Given the description of an element on the screen output the (x, y) to click on. 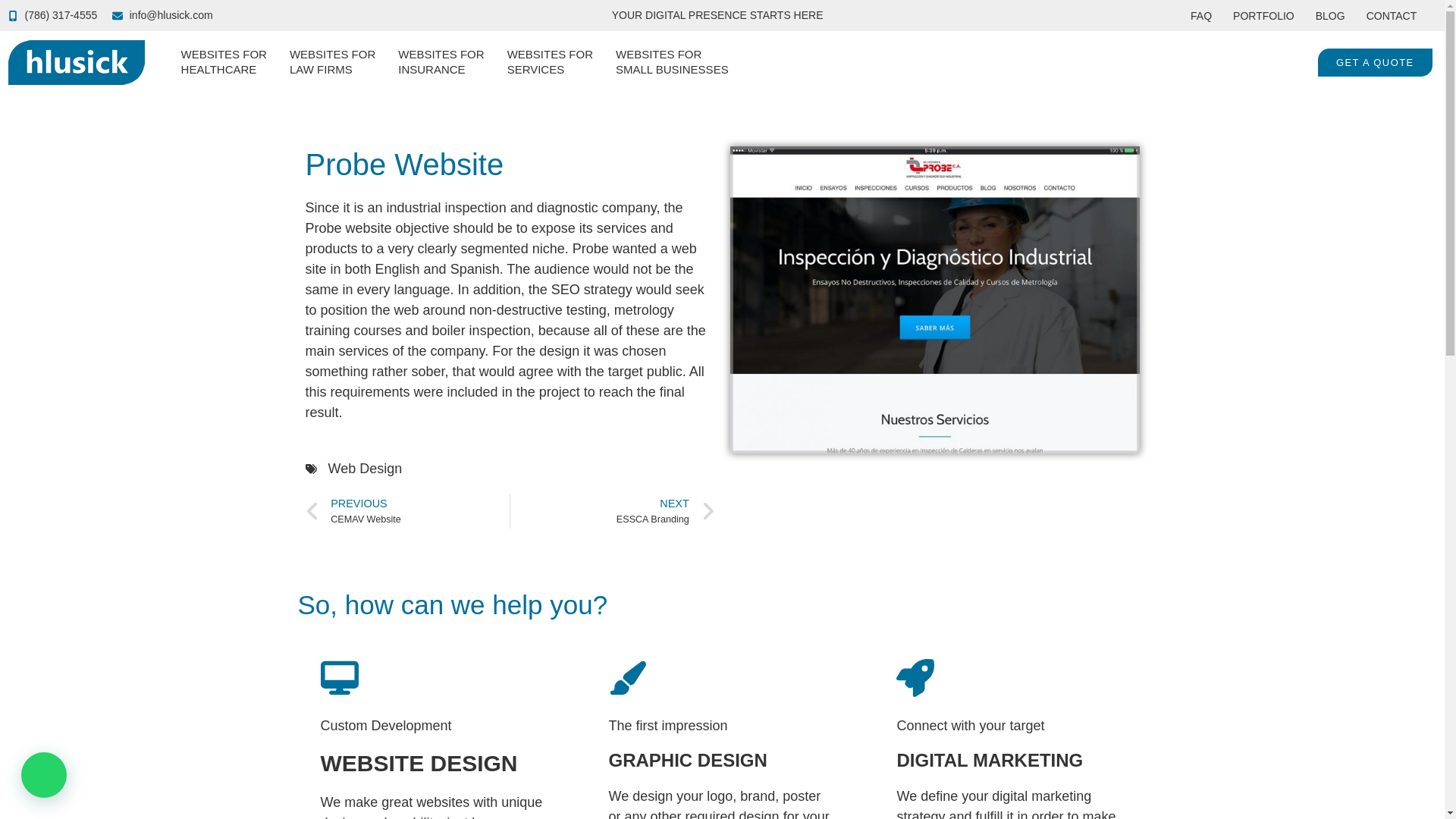
GET A QUOTE (332, 62)
PORTFOLIO (1374, 62)
BLOG (672, 62)
CONTACT (549, 62)
FAQ (440, 62)
